Given the description of an element on the screen output the (x, y) to click on. 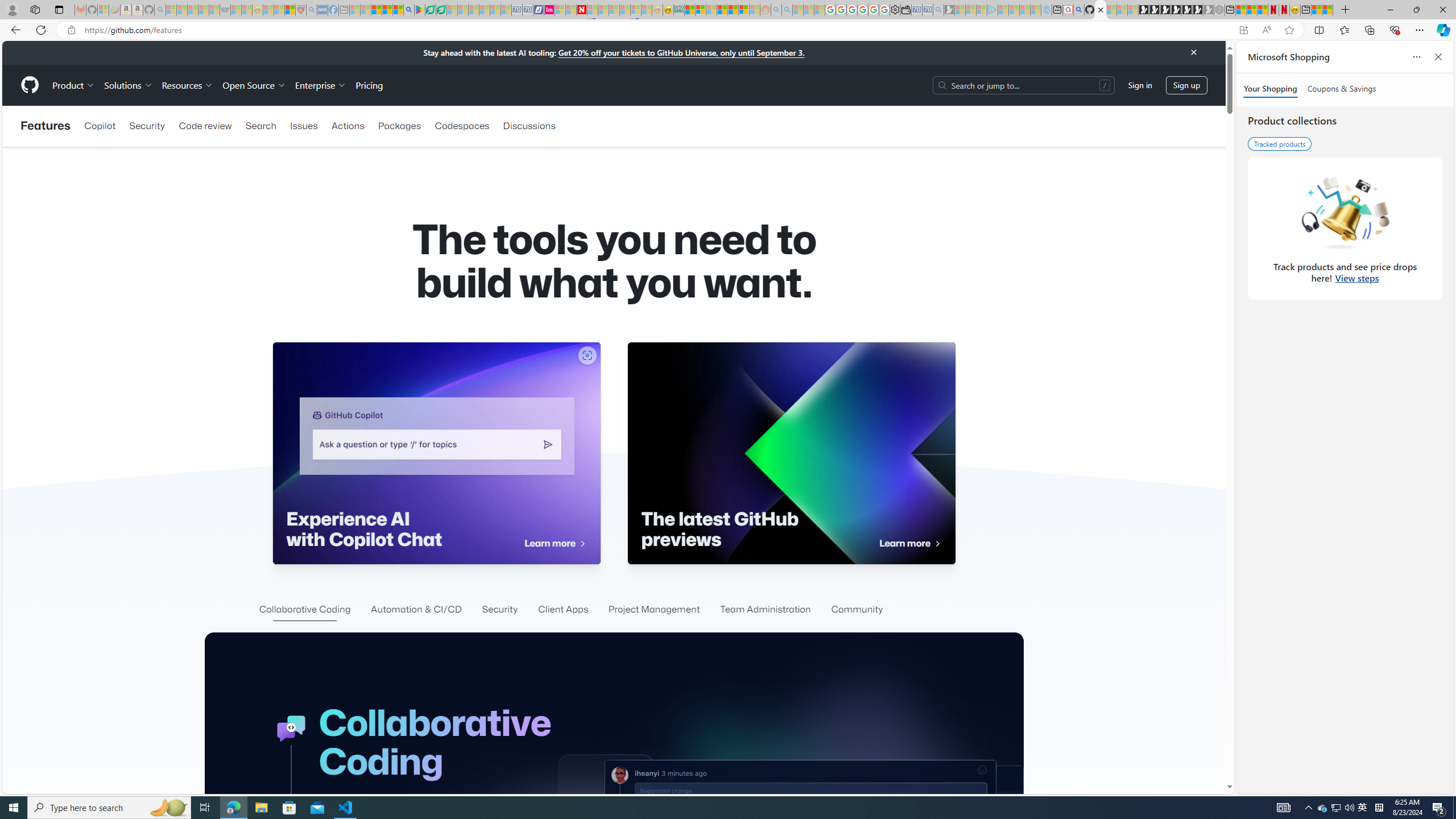
Open Source (254, 84)
Kinda Frugal - MSN (733, 9)
Solutions (128, 84)
Sign up (1186, 84)
Resources (187, 84)
Latest Politics News & Archive | Newsweek.com (582, 9)
Features (45, 125)
Pets - MSN (387, 9)
